Given the description of an element on the screen output the (x, y) to click on. 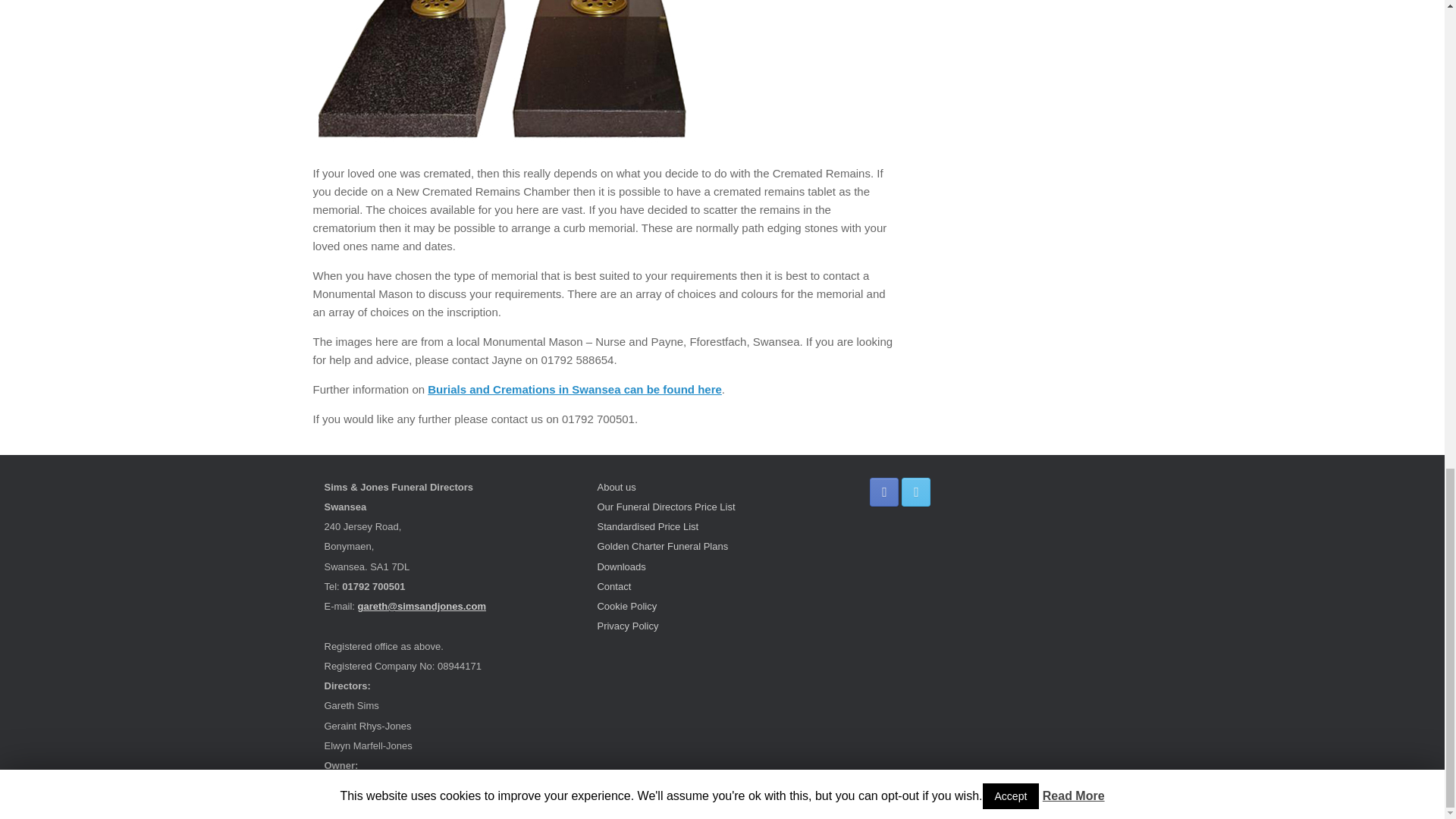
Funeral Directors, Swansea - Sims and Jones Facebook (883, 491)
Our Funeral Directors Price List (665, 506)
About us (615, 487)
Contact (613, 586)
Cookie Policy (626, 605)
Funeral Directors, Swansea - Sims and Jones Twitter (915, 491)
Standardised Price List (647, 526)
Burials and Cremations in Swansea can be found here (575, 389)
Golden Charter Funeral Plans (662, 546)
Downloads (620, 565)
Privacy Policy (627, 625)
